Given the description of an element on the screen output the (x, y) to click on. 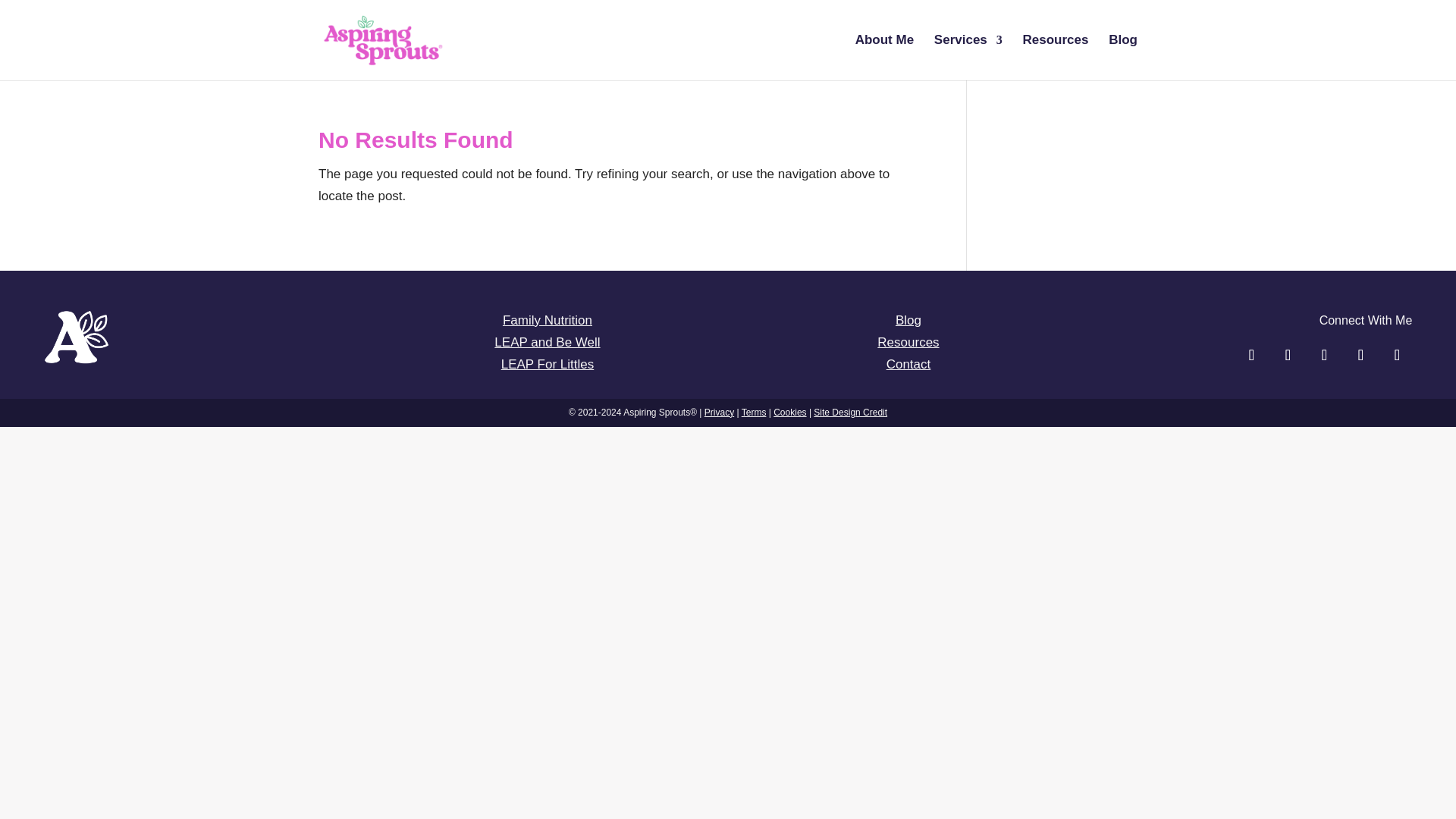
Follow on Facebook (1251, 354)
Family Nutrition (547, 319)
Services (968, 57)
a-leaf (76, 359)
LEAP and Be Well (547, 341)
Follow on Instagram (1287, 354)
Follow on Youtube (1396, 354)
Resources (1056, 57)
Privacy (718, 412)
Follow on TikTok (1323, 354)
Resources (908, 341)
Contact (908, 364)
About Me (885, 57)
LEAP For Littles (547, 364)
Terms (754, 412)
